Given the description of an element on the screen output the (x, y) to click on. 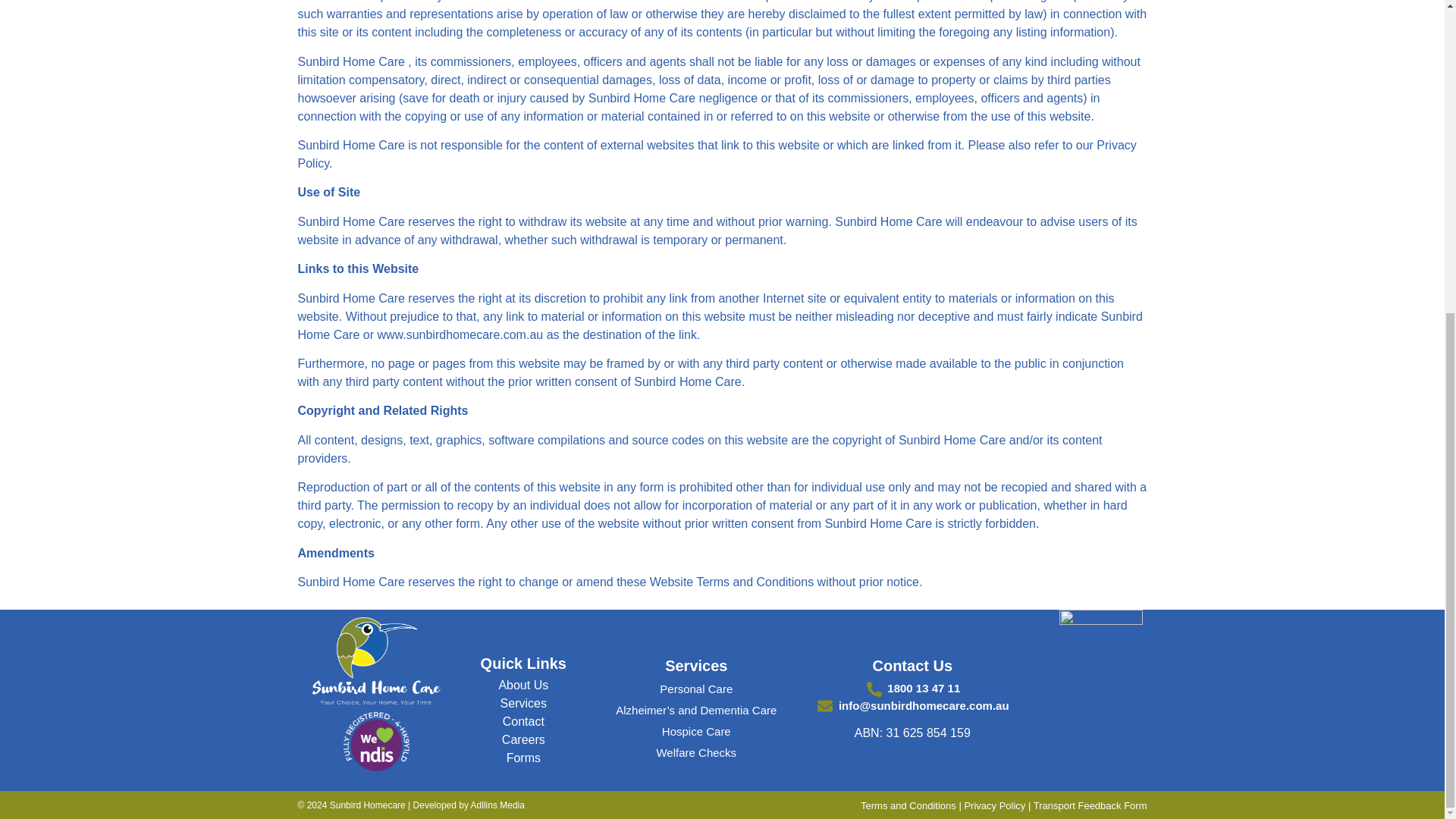
Terms and Conditions (908, 805)
Adllins Media Website (497, 805)
Transport Feedback Form (1090, 805)
Privacy Policy (994, 805)
We Heart NDIS with Registration Number - Sunbird Home Care (376, 744)
sunbird-logo-reversed - Sunbird Home Care (376, 662)
